Given the description of an element on the screen output the (x, y) to click on. 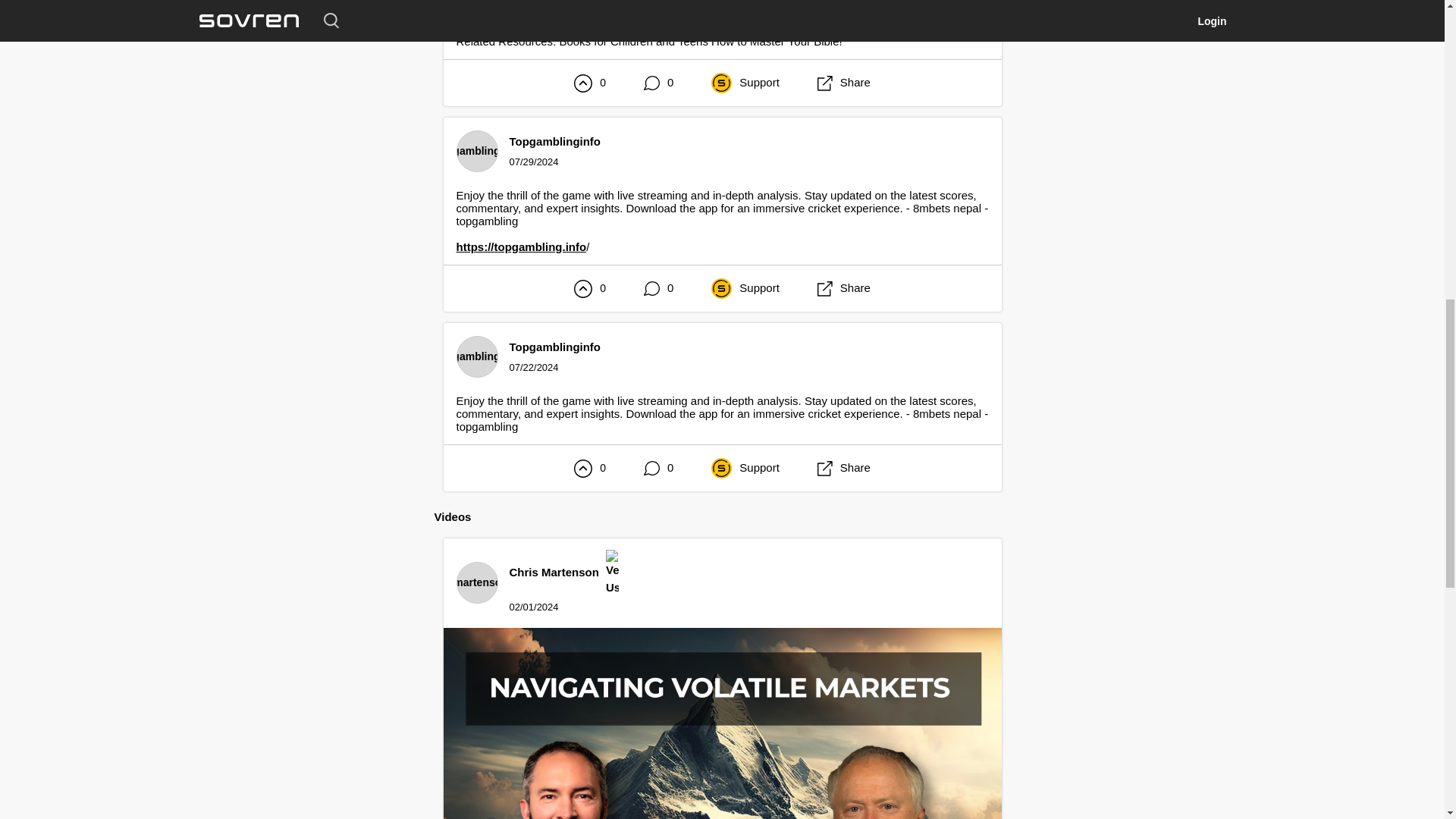
Share (843, 82)
Support (744, 82)
Vote up (582, 83)
Topgamblinginfo (555, 346)
Vote up (582, 288)
Topgamblinginfo (555, 141)
0 (657, 288)
Support (744, 288)
0 (657, 82)
Share (843, 288)
